Given the description of an element on the screen output the (x, y) to click on. 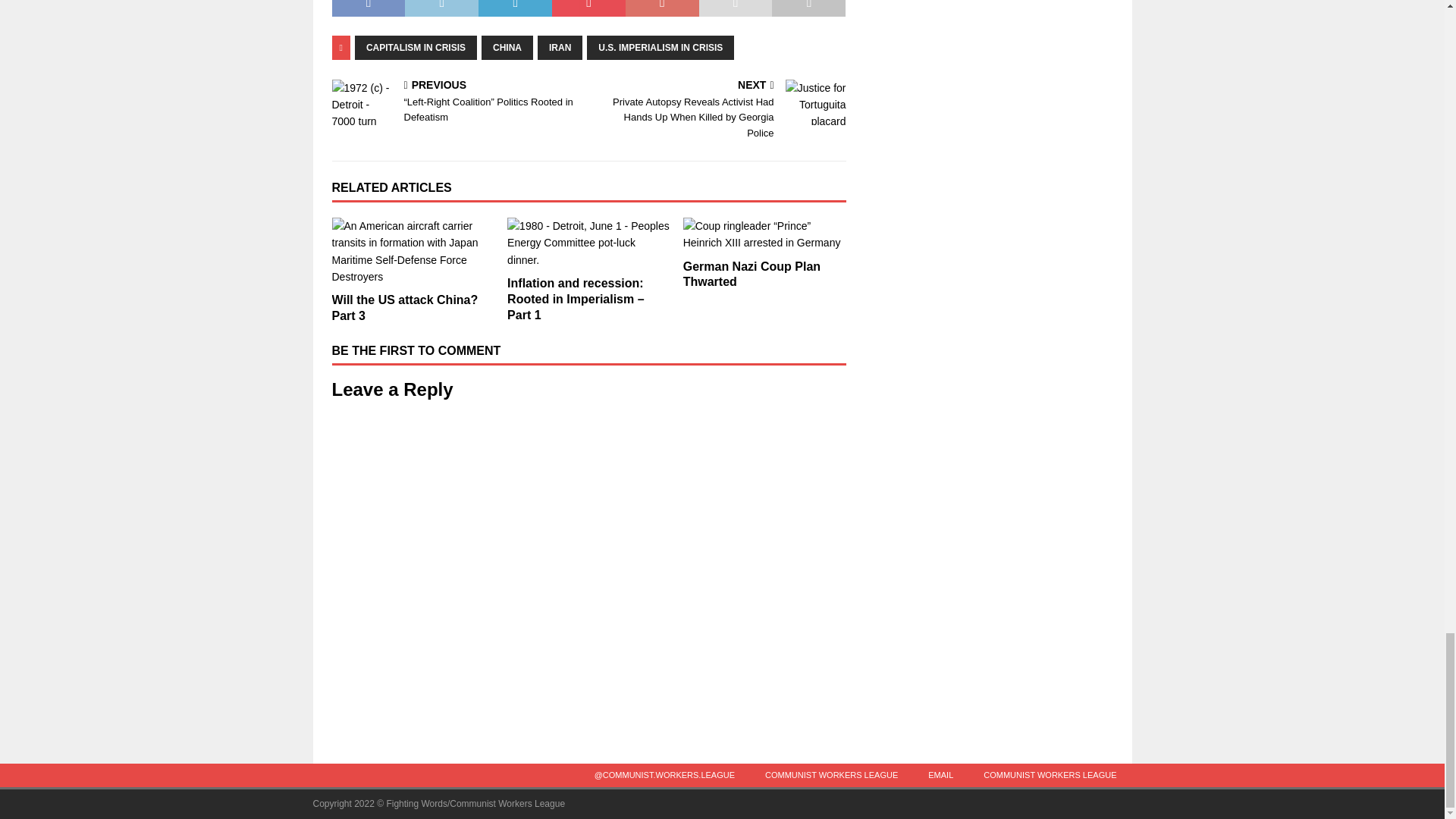
CAPITALISM IN CRISIS (416, 47)
U.S. IMPERIALISM IN CRISIS (659, 47)
CHINA (506, 47)
IRAN (559, 47)
